Given the description of an element on the screen output the (x, y) to click on. 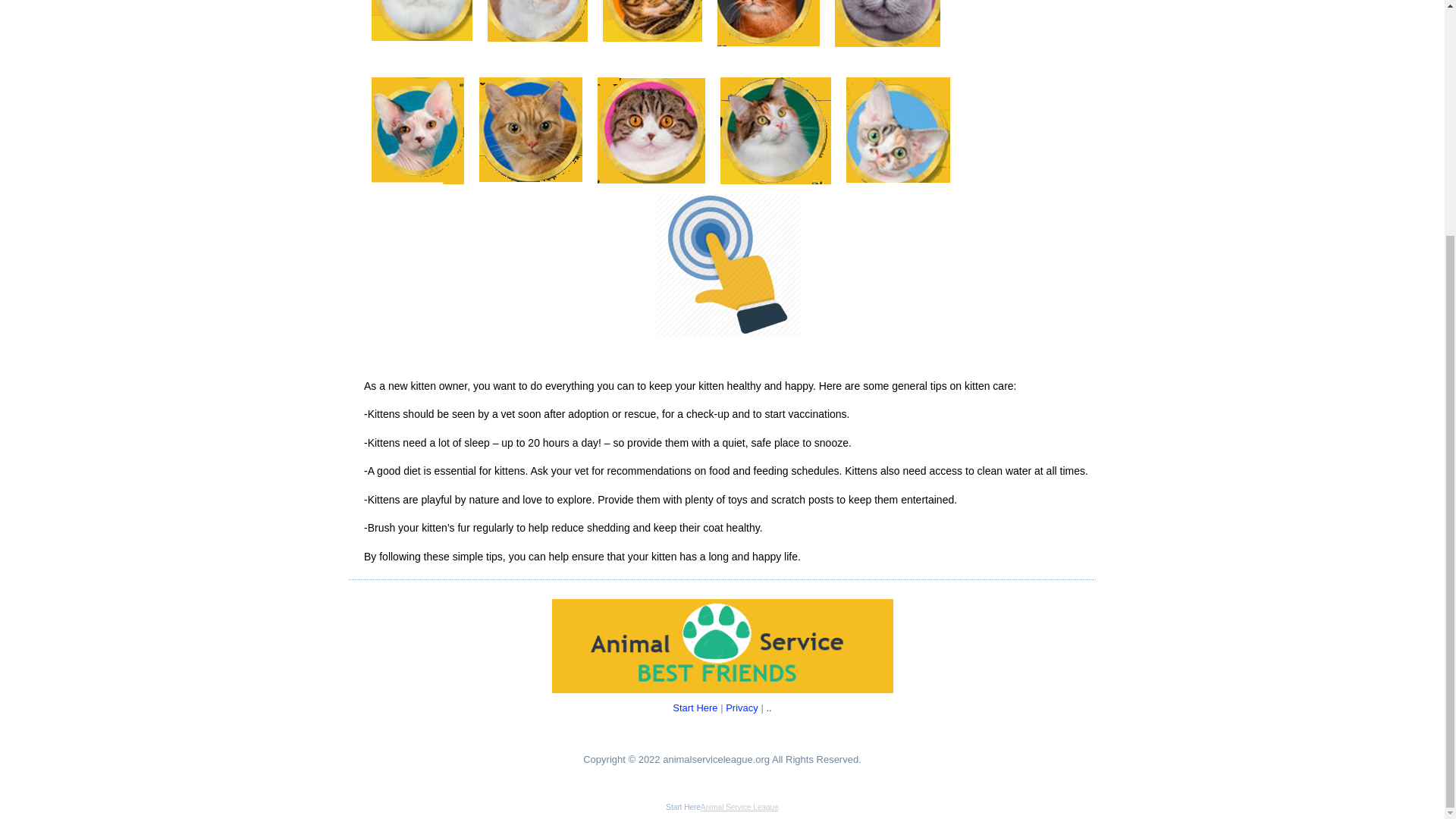
Cat 4 (768, 22)
Cat 5 (887, 23)
Cat 3 (651, 20)
Cat 10 (897, 129)
Privacy (741, 707)
Cat 2 (537, 20)
Start Here (694, 707)
Cat 7 (530, 128)
Cat 8 (650, 129)
Animal Service League (739, 807)
